Given the description of an element on the screen output the (x, y) to click on. 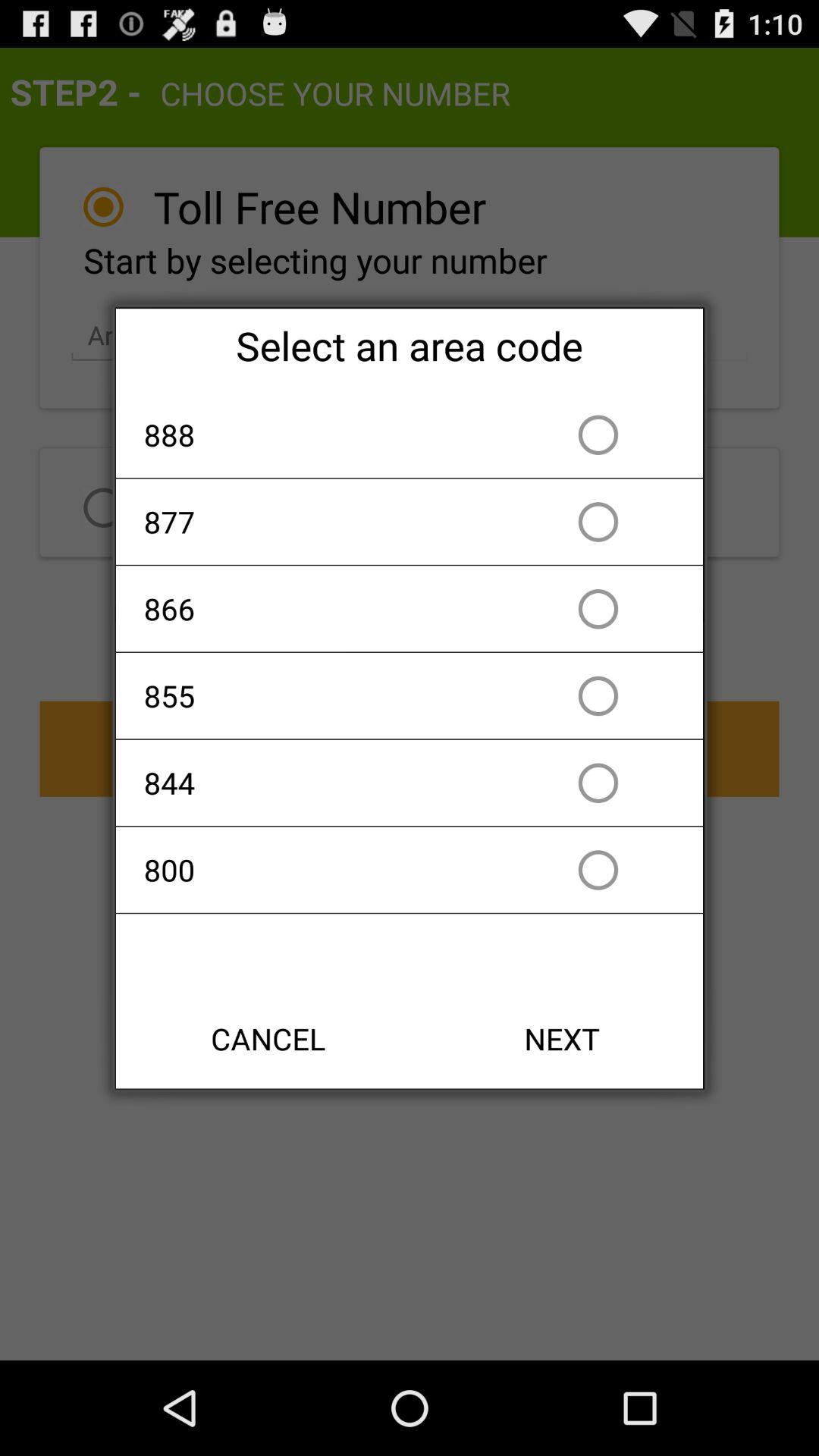
choose cancel item (268, 1038)
